Given the description of an element on the screen output the (x, y) to click on. 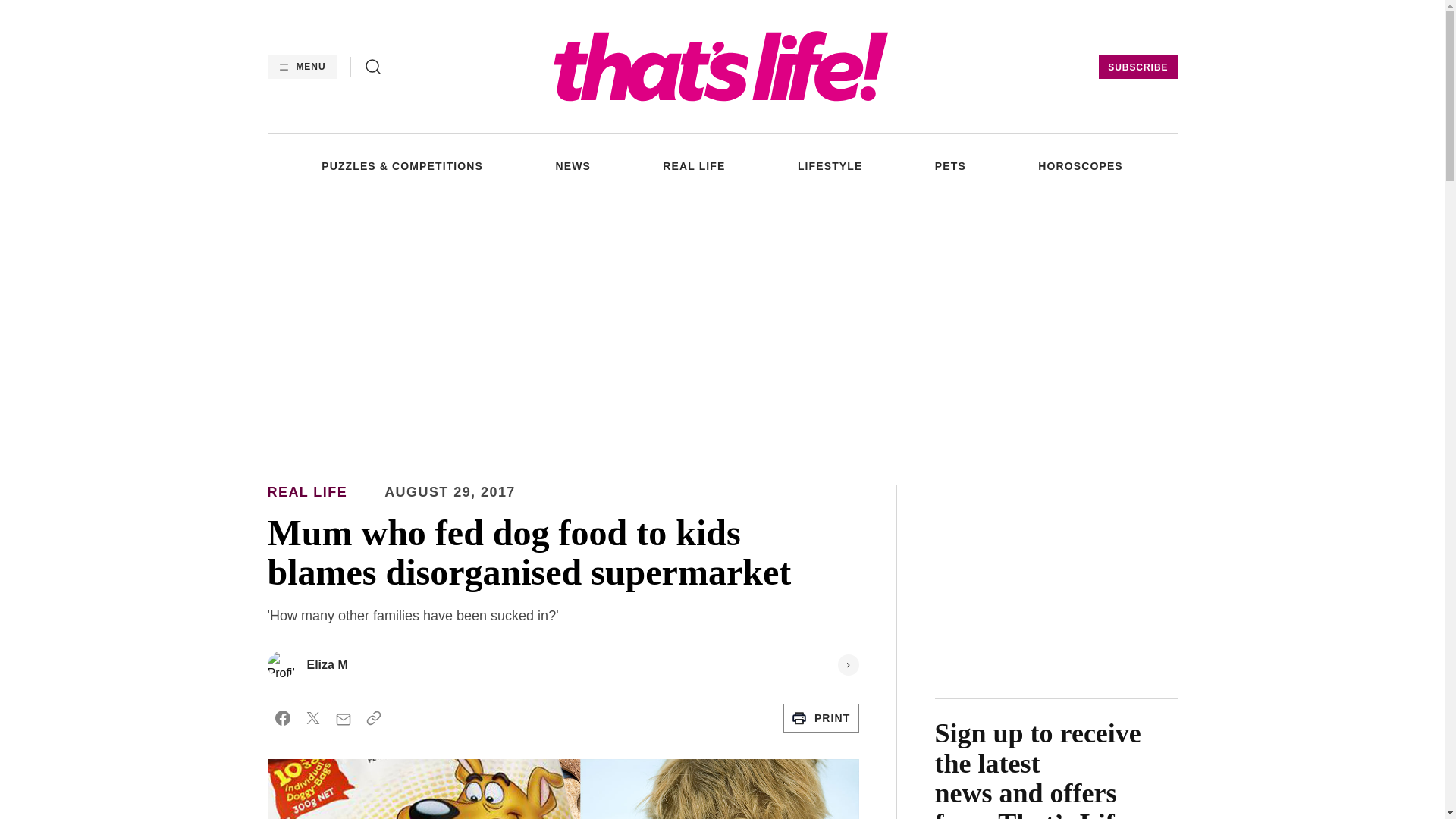
REAL LIFE (693, 165)
HOROSCOPES (1080, 165)
MENU (301, 66)
LIFESTYLE (830, 165)
NEWS (571, 165)
SUBSCRIBE (1137, 66)
PETS (950, 165)
